Given the description of an element on the screen output the (x, y) to click on. 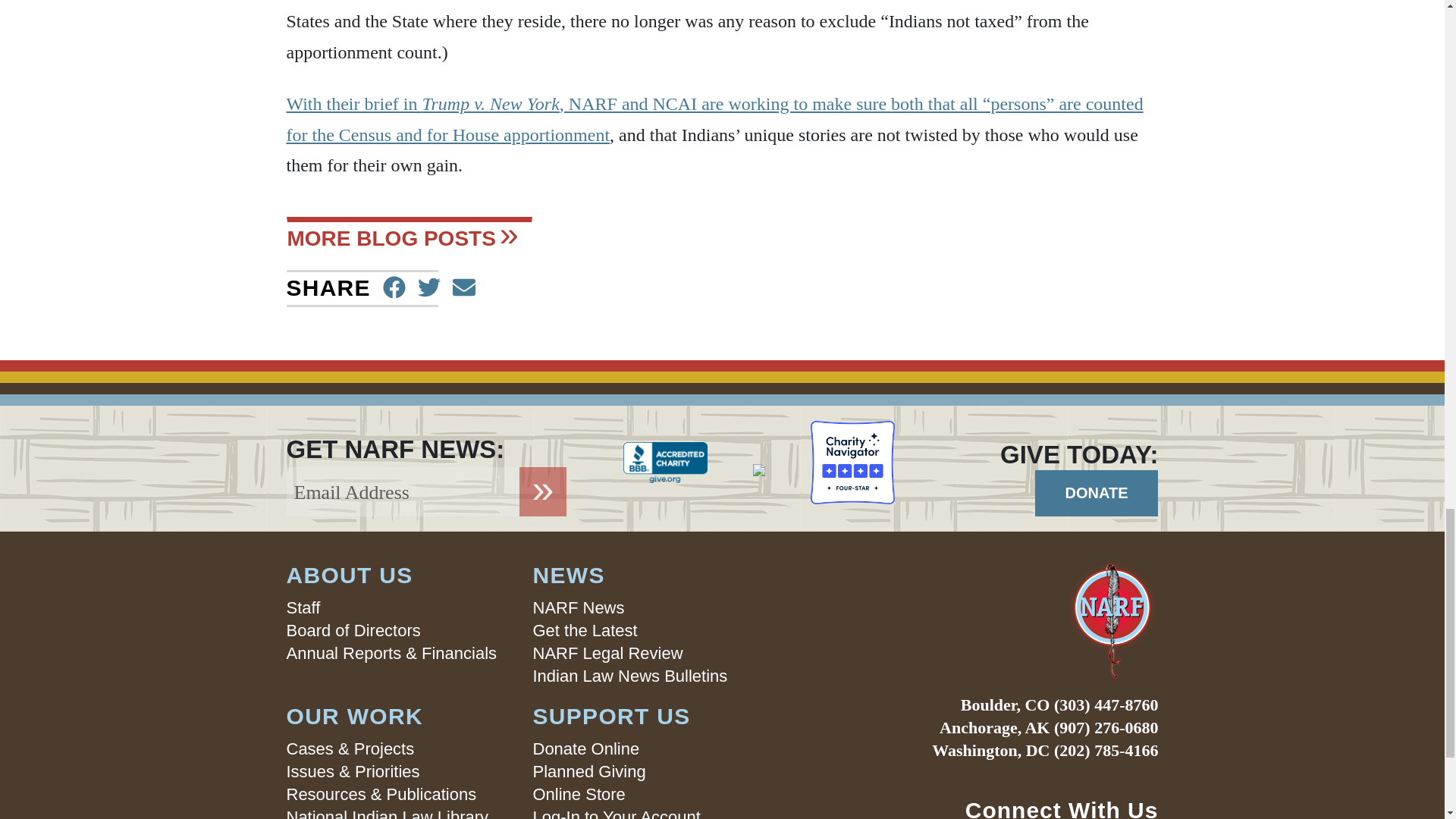
Share on Facebook (394, 288)
Native American Rights Fund (980, 619)
Send email (464, 288)
Tweet (429, 288)
Donate (1096, 493)
